Given the description of an element on the screen output the (x, y) to click on. 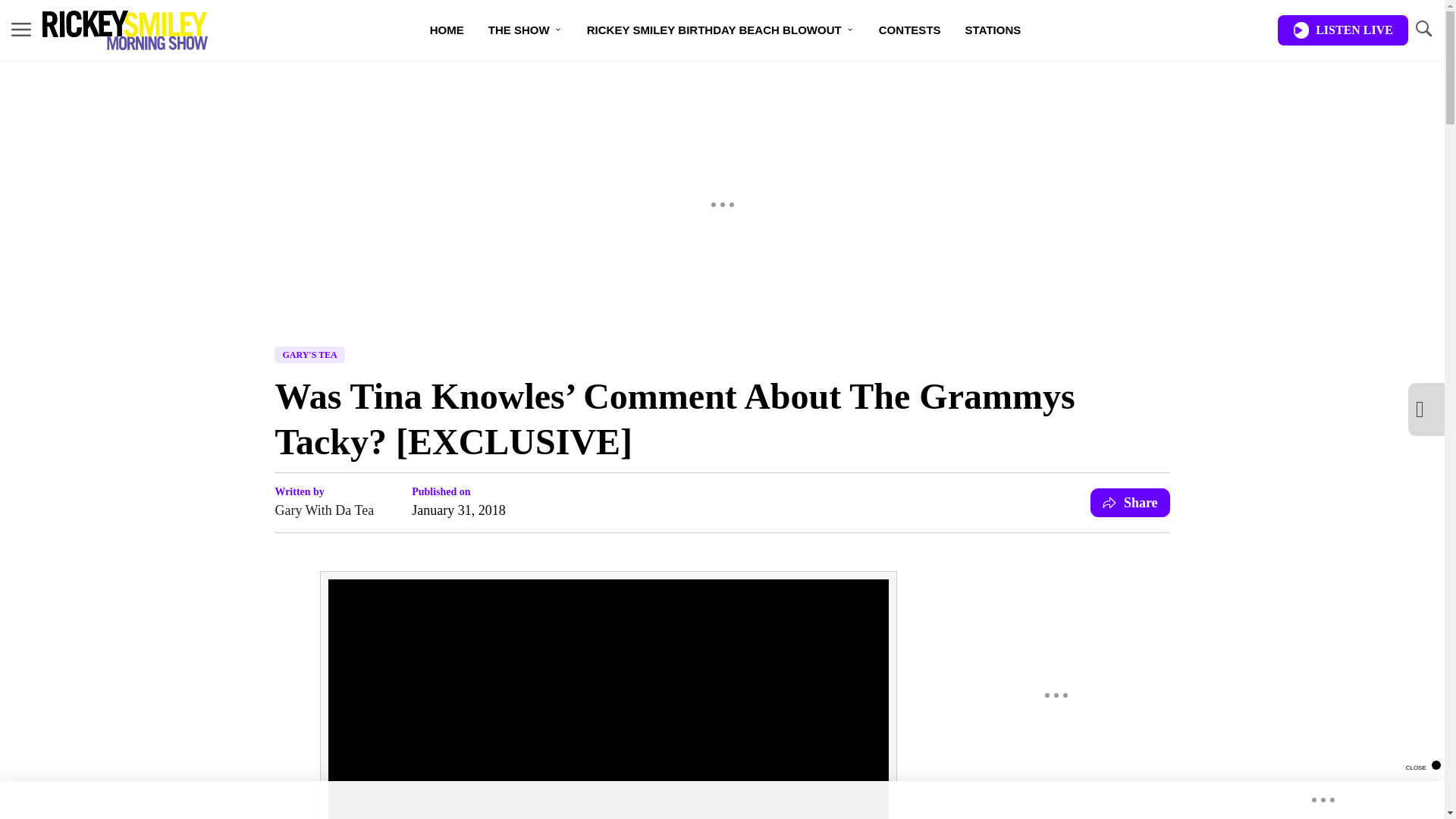
MENU (20, 30)
THE SHOW (525, 30)
CONTESTS (909, 30)
Gary With Da Tea (324, 509)
HOME (446, 30)
RICKEY SMILEY BIRTHDAY BEACH BLOWOUT (720, 30)
Stations (993, 30)
MENU (20, 29)
TOGGLE SEARCH (1422, 28)
LISTEN LIVE (1342, 30)
